Given the description of an element on the screen output the (x, y) to click on. 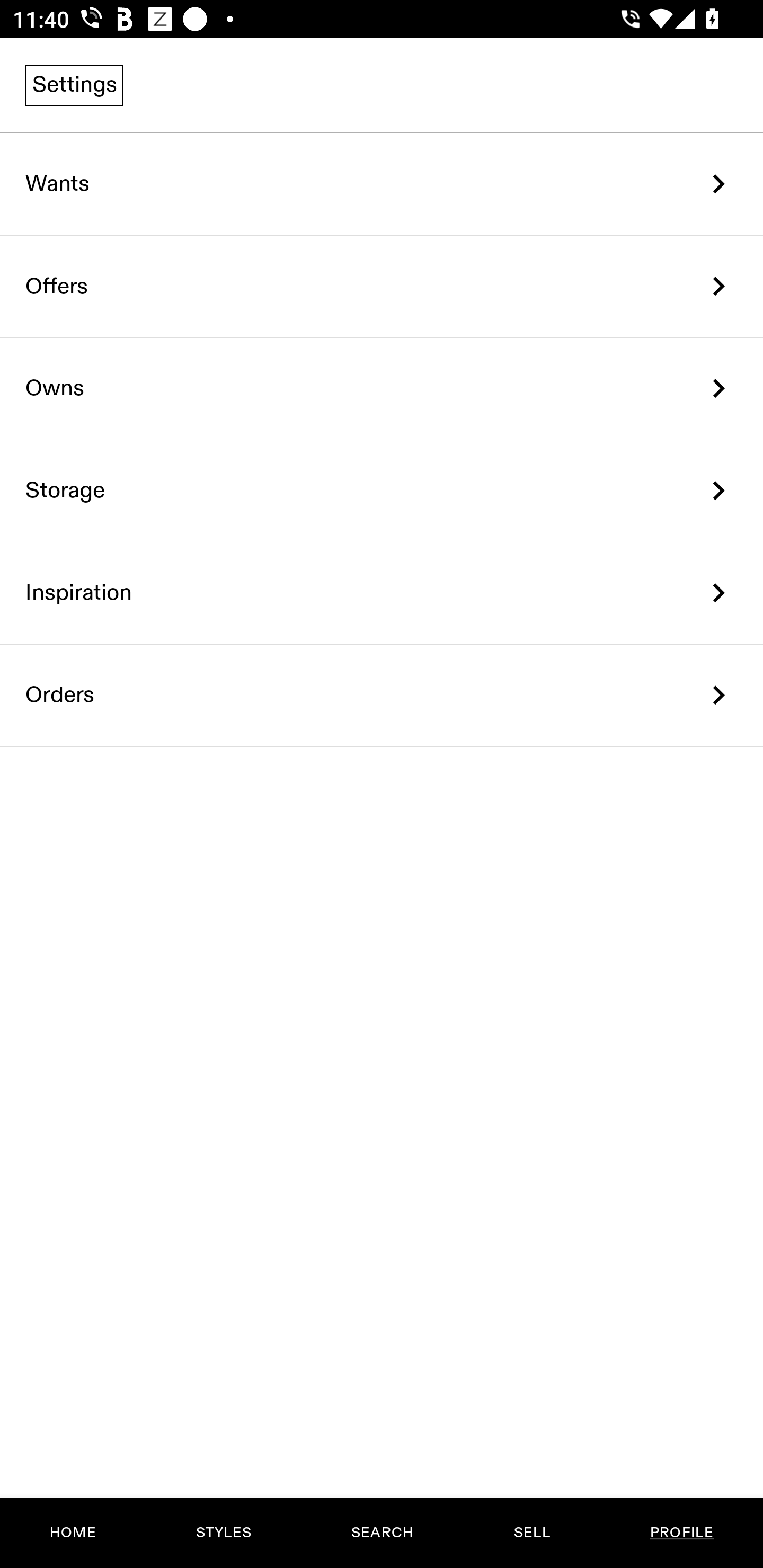
Settings (73, 85)
Wants (381, 184)
Offers (381, 286)
Owns (381, 388)
Storage (381, 491)
Inspiration (381, 593)
Orders (381, 695)
HOME (72, 1532)
STYLES (222, 1532)
SEARCH (381, 1532)
SELL (531, 1532)
PROFILE (681, 1532)
